Given the description of an element on the screen output the (x, y) to click on. 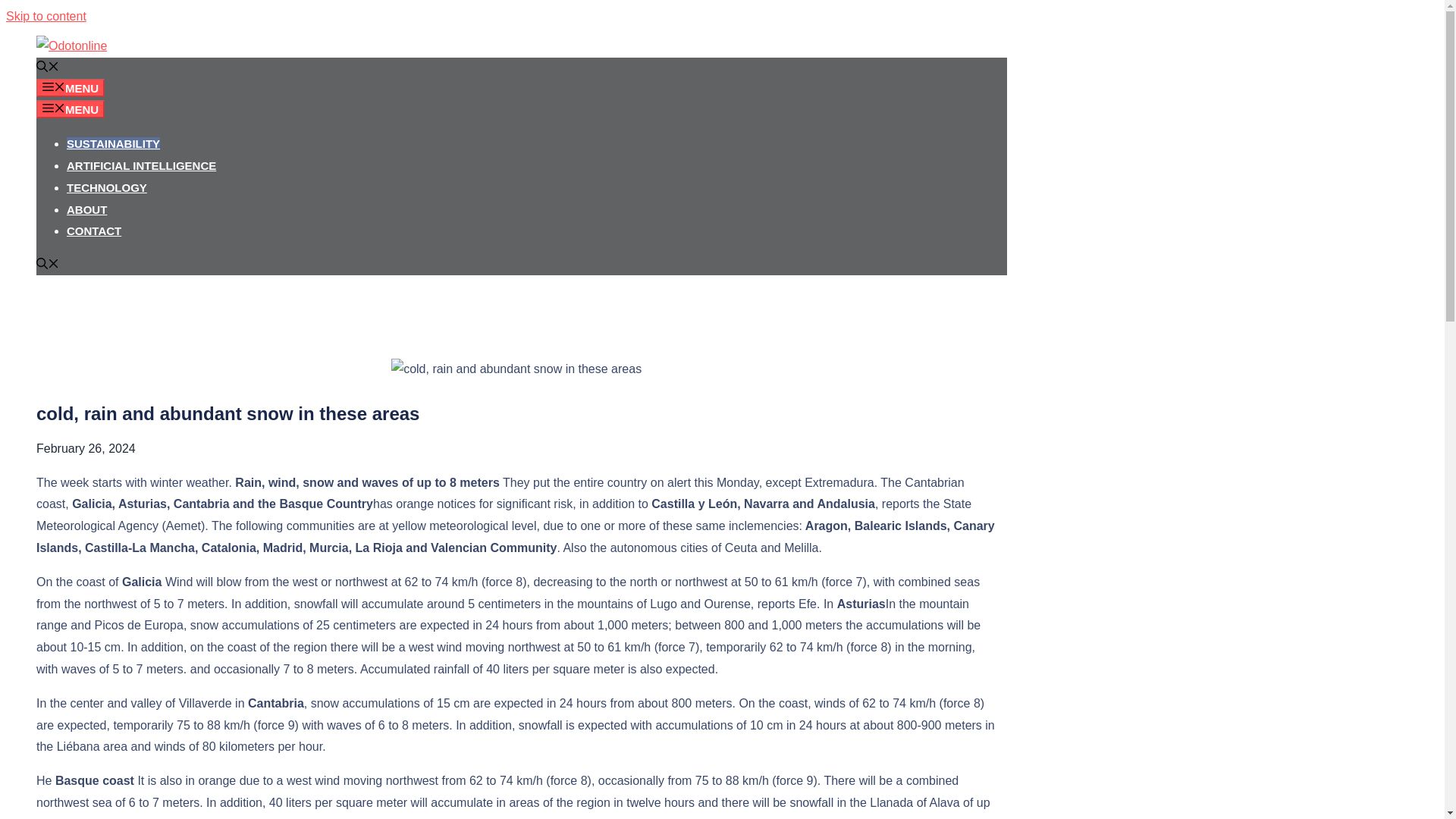
MENU (70, 108)
Skip to content (45, 15)
MENU (70, 87)
ABOUT (86, 209)
SUSTAINABILITY (113, 143)
ARTIFICIAL INTELLIGENCE (140, 164)
CONTACT (93, 230)
Skip to content (45, 15)
TECHNOLOGY (106, 187)
